Given the description of an element on the screen output the (x, y) to click on. 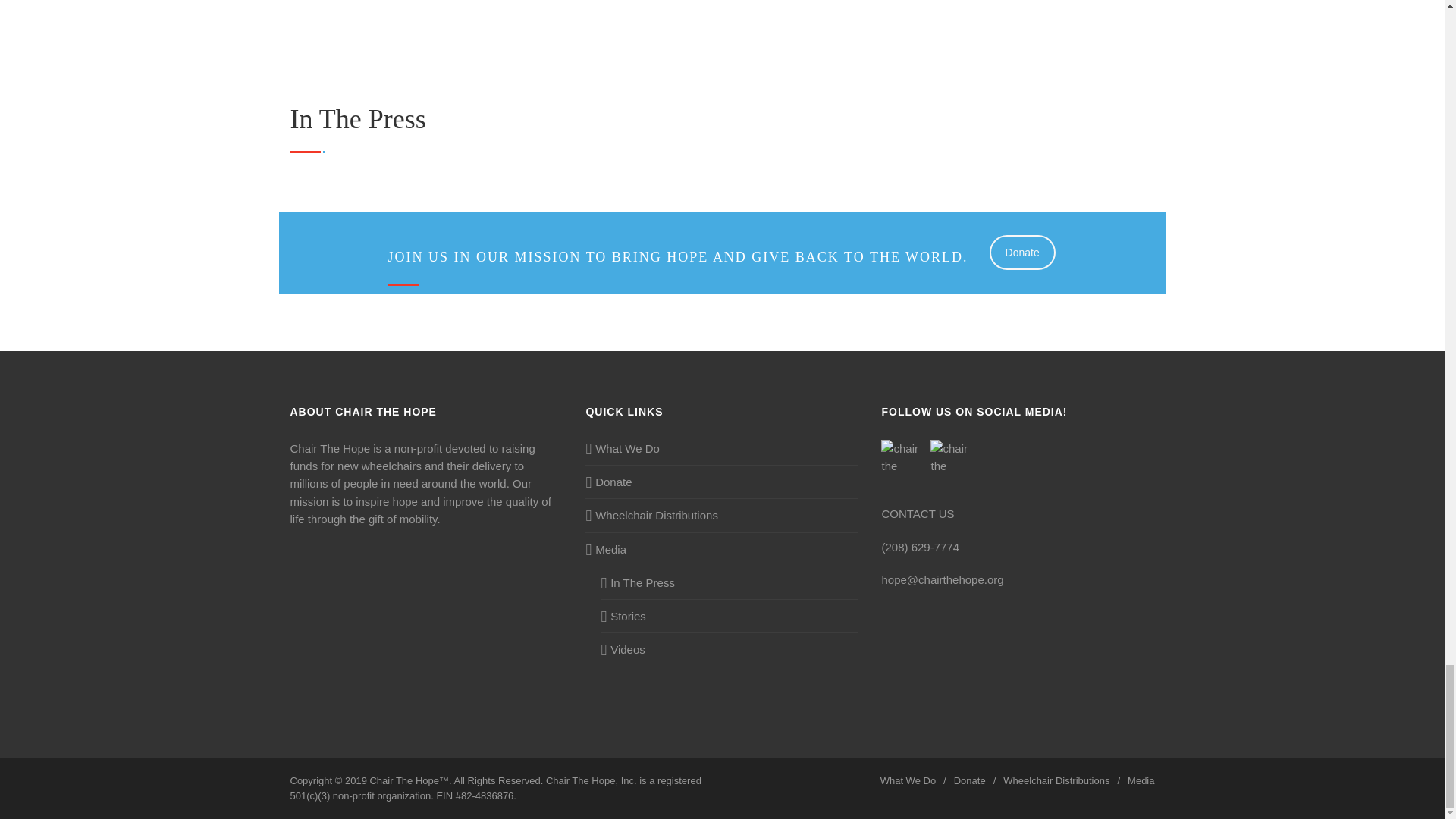
Donate (608, 481)
What We Do (622, 448)
Media (605, 548)
Donate (1022, 252)
Wheelchair Distributions (651, 515)
